Given the description of an element on the screen output the (x, y) to click on. 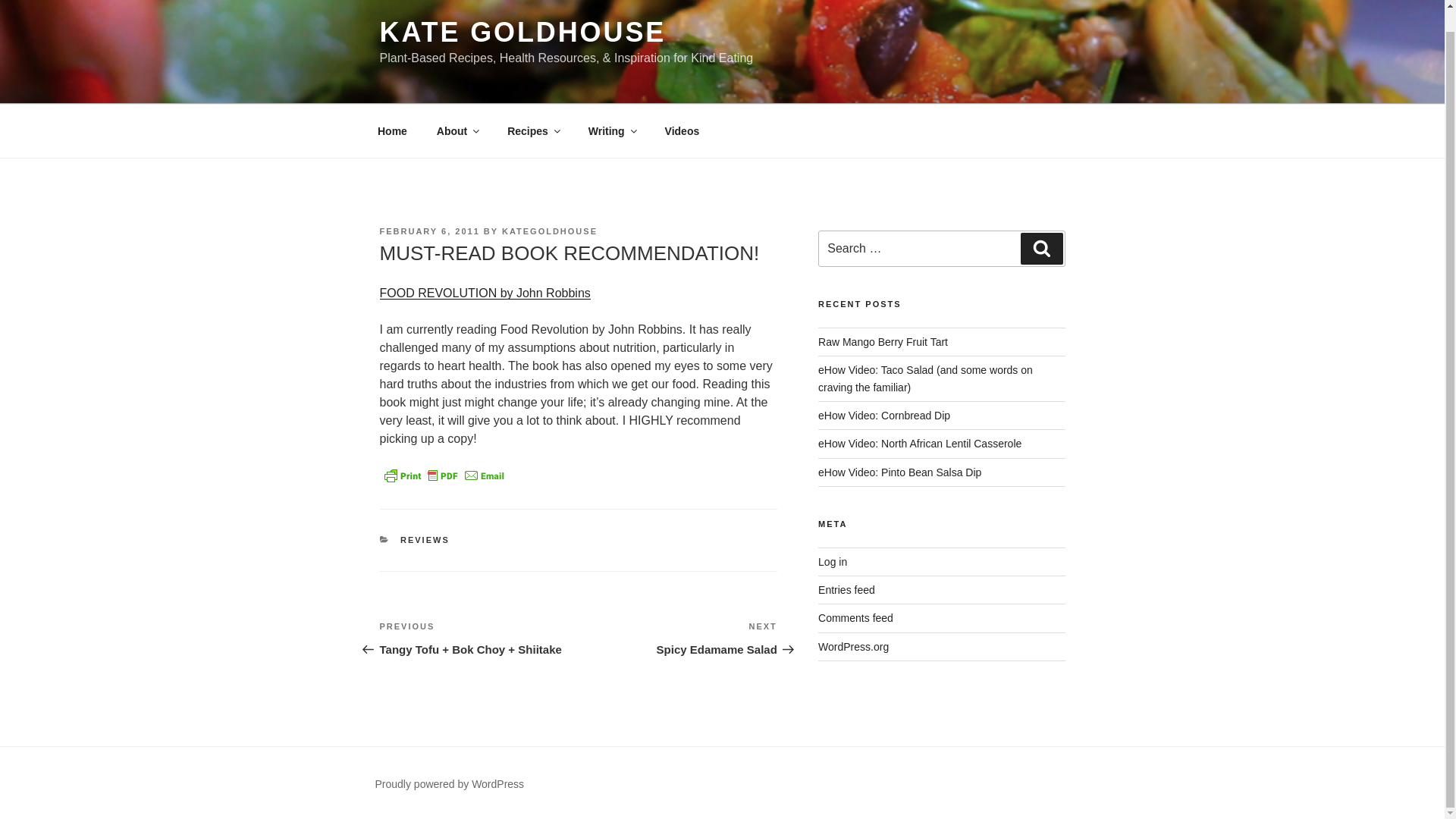
Home (392, 130)
Recipes (533, 130)
FOOD REVOLUTION by John Robbins (483, 292)
KATEGOLDHOUSE (549, 230)
Videos (681, 130)
Writing (611, 130)
About (456, 130)
KATE GOLDHOUSE (521, 31)
FEBRUARY 6, 2011 (428, 230)
